Given the description of an element on the screen output the (x, y) to click on. 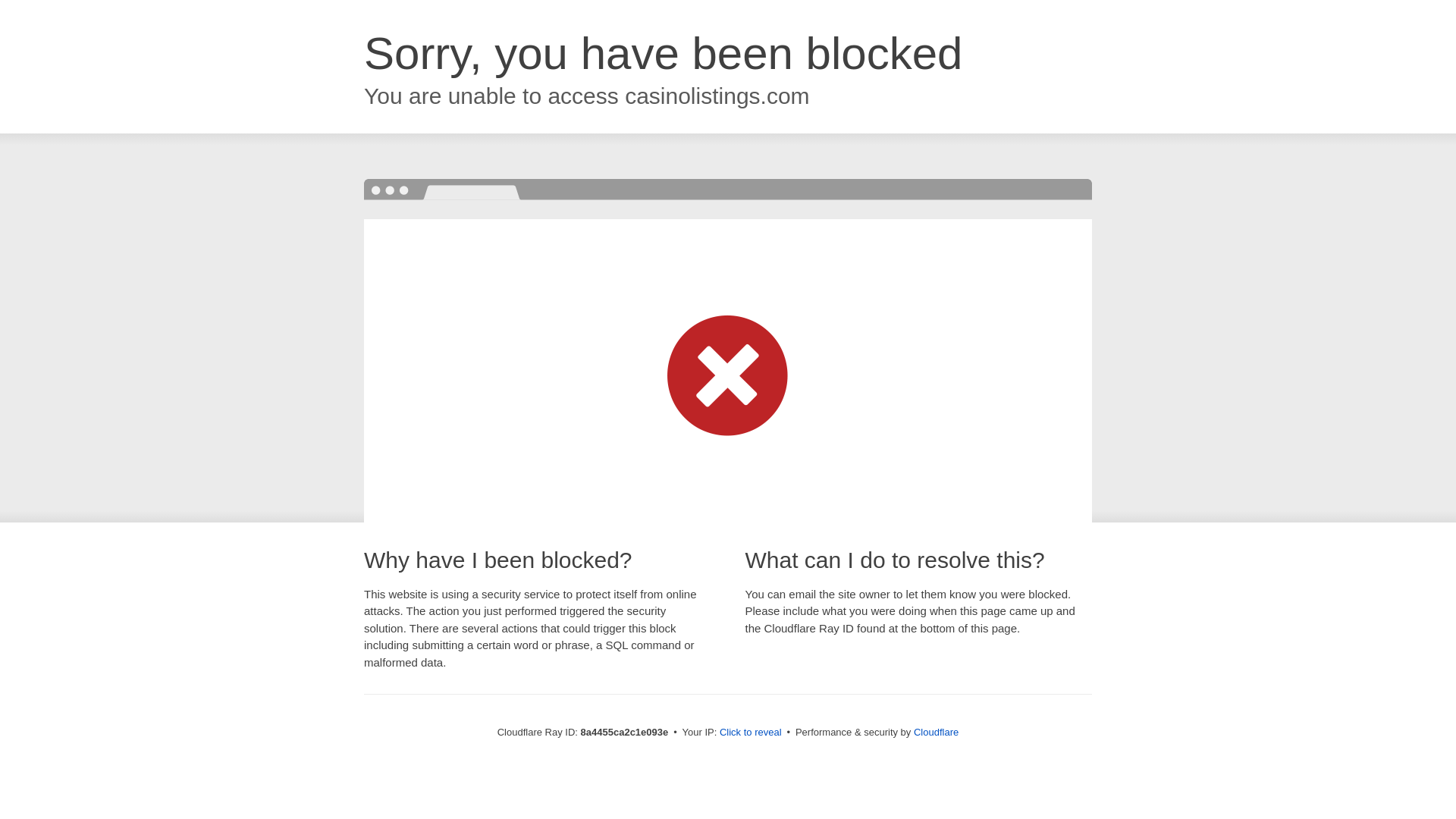
Click to reveal (750, 732)
Cloudflare (936, 731)
